Given the description of an element on the screen output the (x, y) to click on. 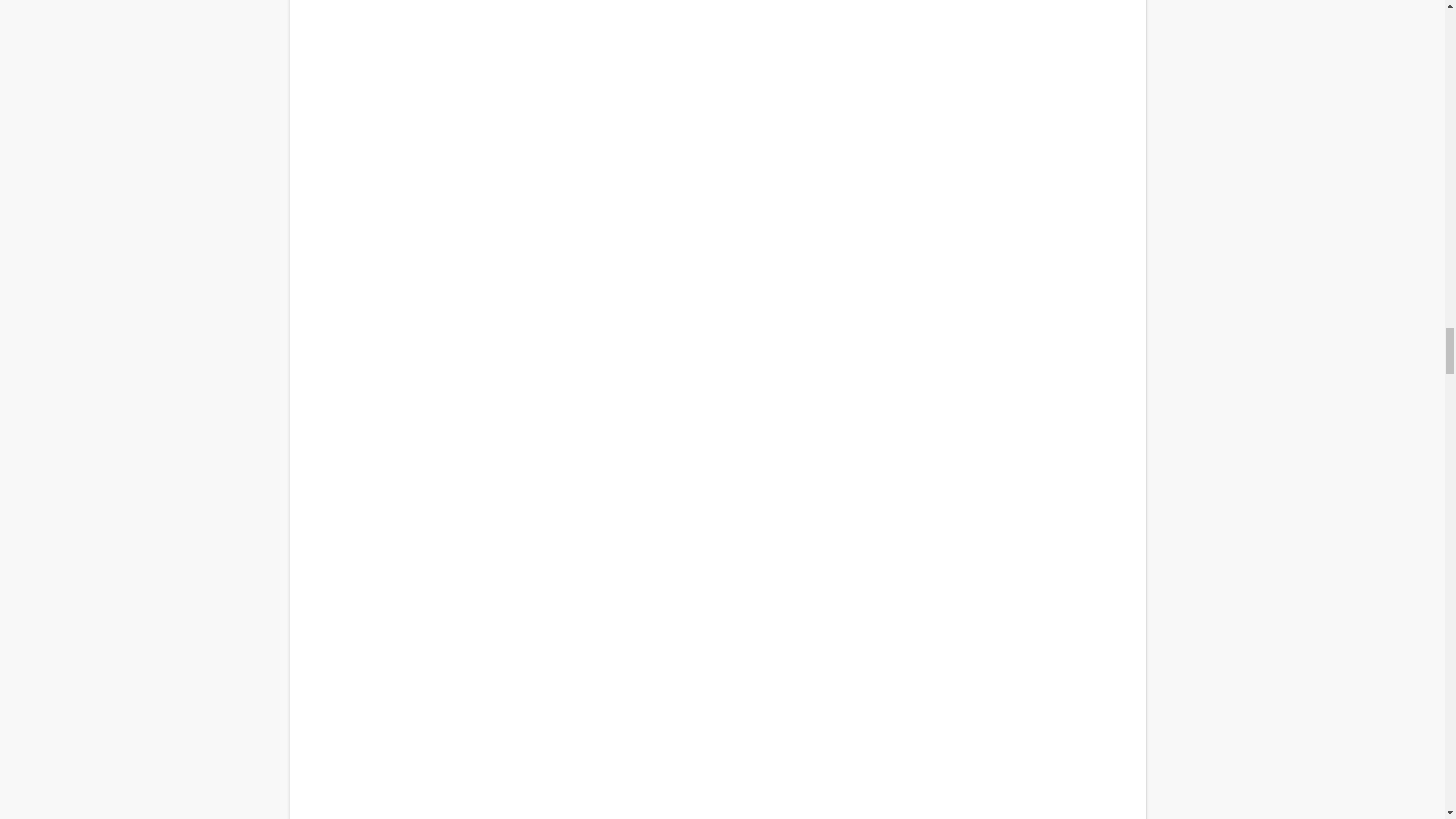
Fill in the blanks (717, 326)
